Given the description of an element on the screen output the (x, y) to click on. 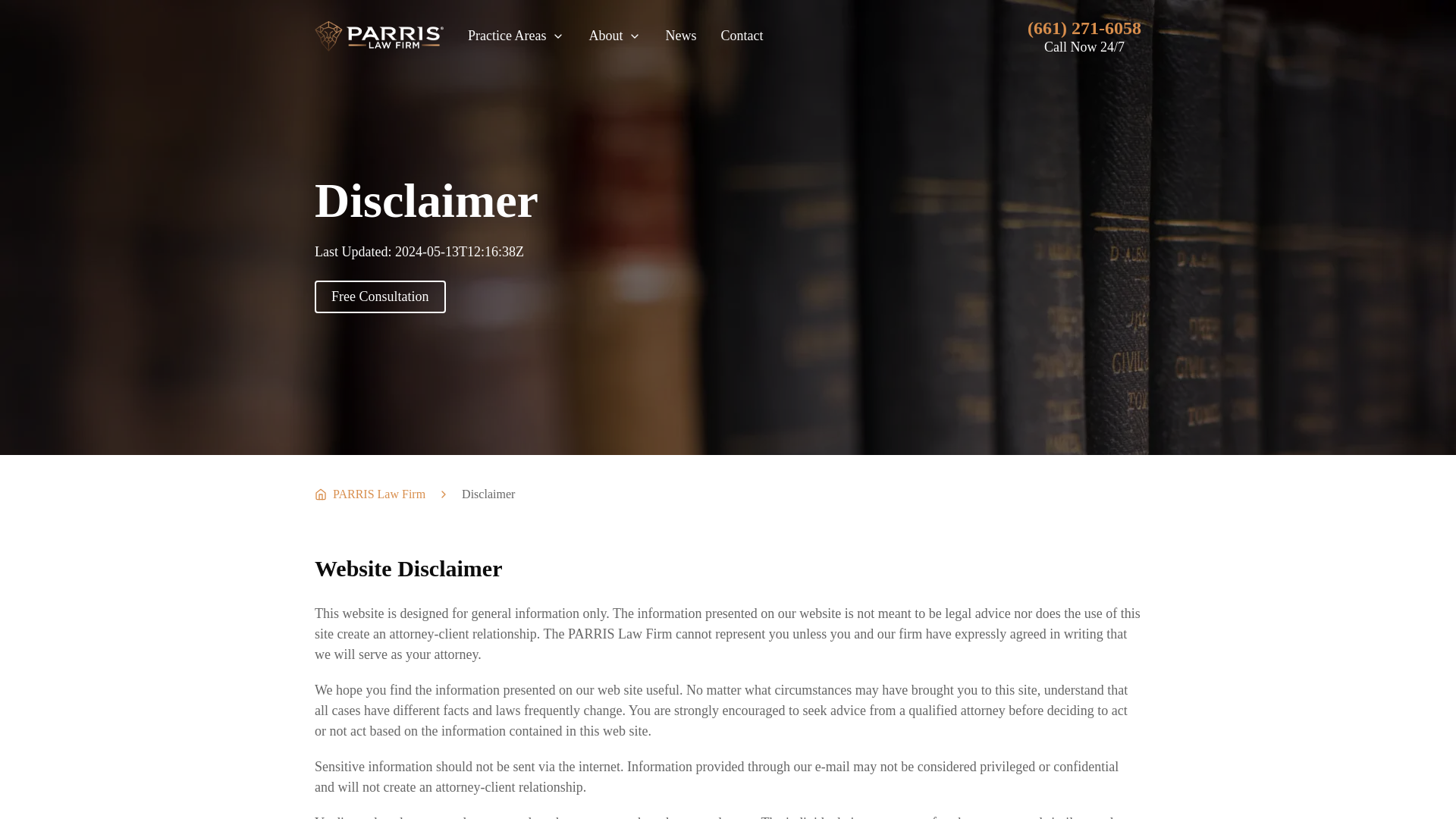
Free Consultation (379, 296)
Disclaimer (488, 494)
Contact (741, 35)
About (614, 35)
Practice Areas (515, 35)
PARRIS Law Firm (369, 494)
News (680, 35)
